Given the description of an element on the screen output the (x, y) to click on. 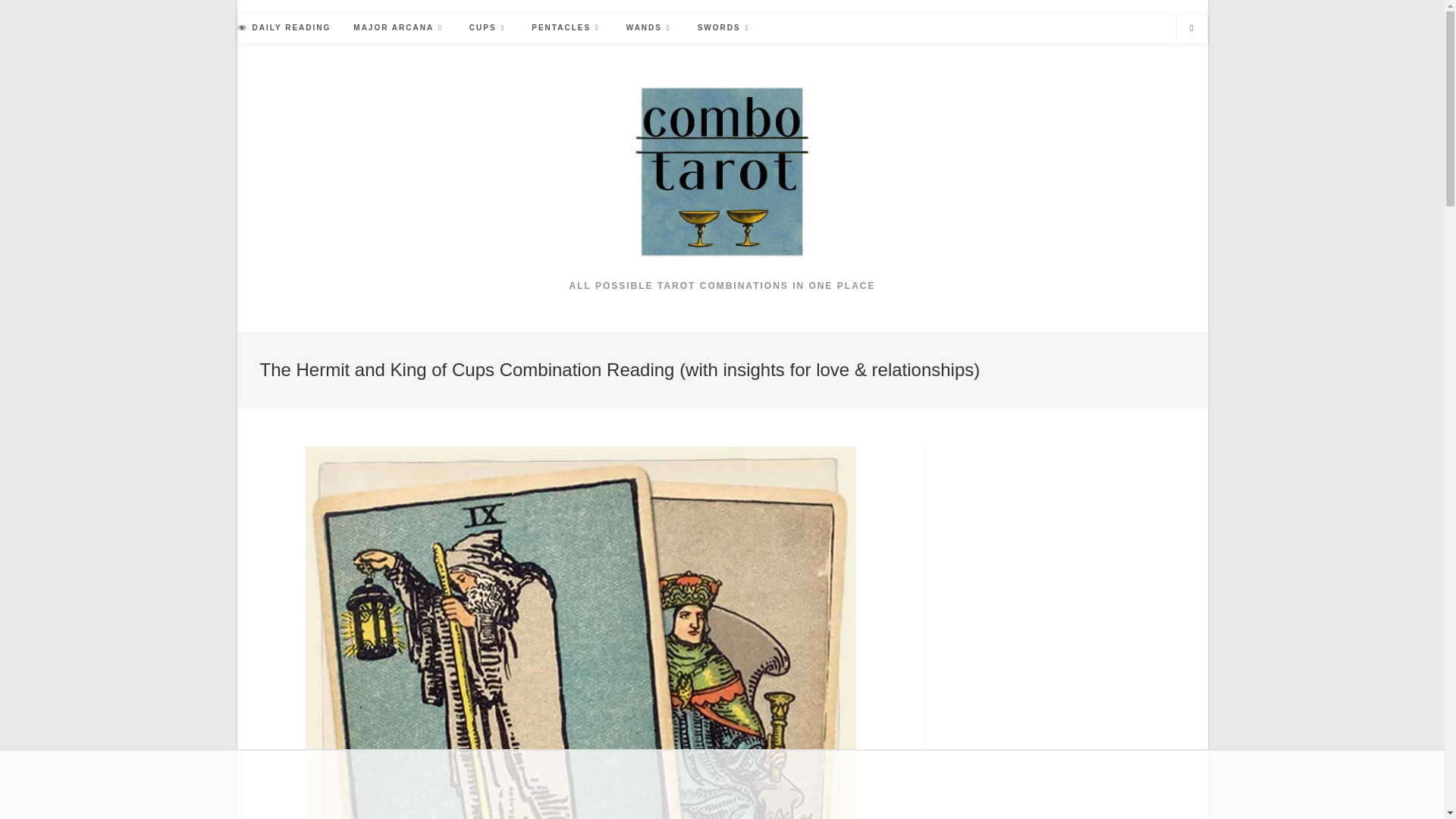
DAILY READING (283, 28)
CUPS (488, 28)
MAJOR ARCANA (400, 28)
